Given the description of an element on the screen output the (x, y) to click on. 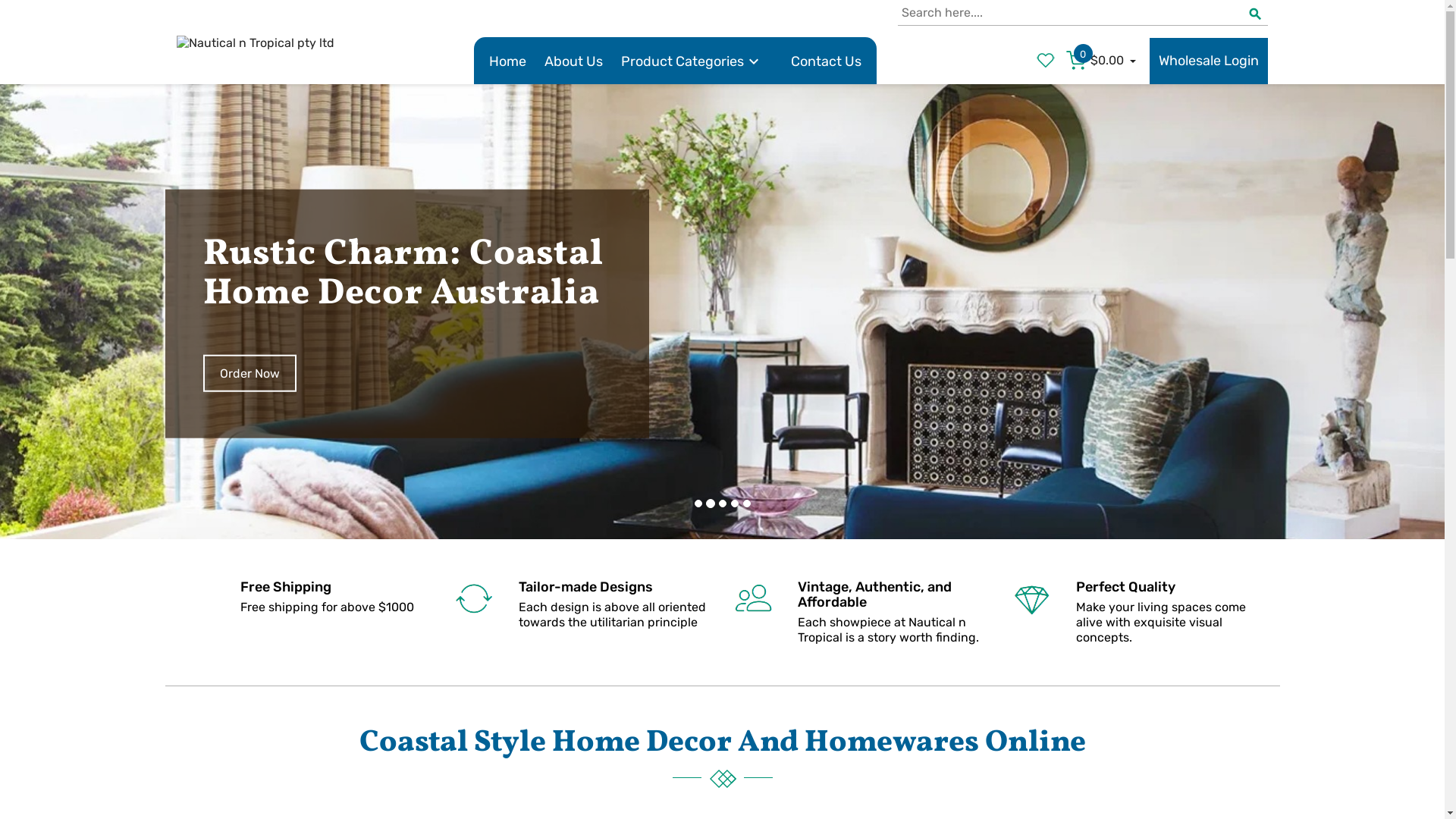
Order Now Element type: text (249, 336)
About Us Element type: text (573, 61)
Wishlist Element type: text (1032, 60)
Contact Us Element type: text (825, 61)
shopping_cart
0
$0.00 Element type: text (1102, 59)
Home Element type: text (507, 61)
Wholesale Login Element type: text (1208, 60)
Rustic Charm: Coastal Home Decor Australia Element type: text (407, 238)
